Given the description of an element on the screen output the (x, y) to click on. 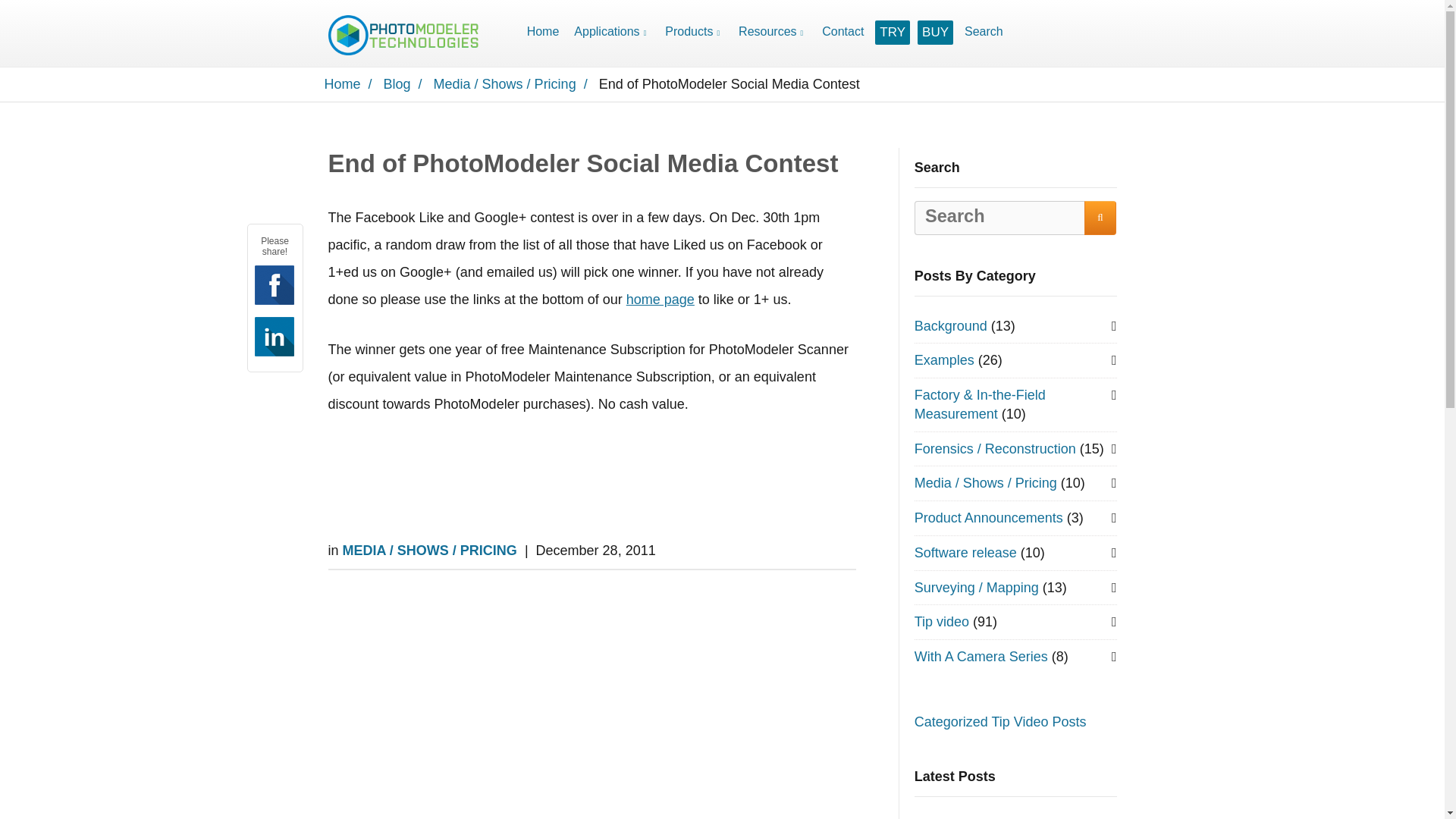
Resources (772, 31)
Products (694, 31)
TRY (892, 32)
home page (660, 299)
Search (983, 31)
Applications (611, 31)
BUY (935, 32)
Home (543, 31)
Examples (944, 359)
Contact (842, 31)
Background (950, 325)
